Given the description of an element on the screen output the (x, y) to click on. 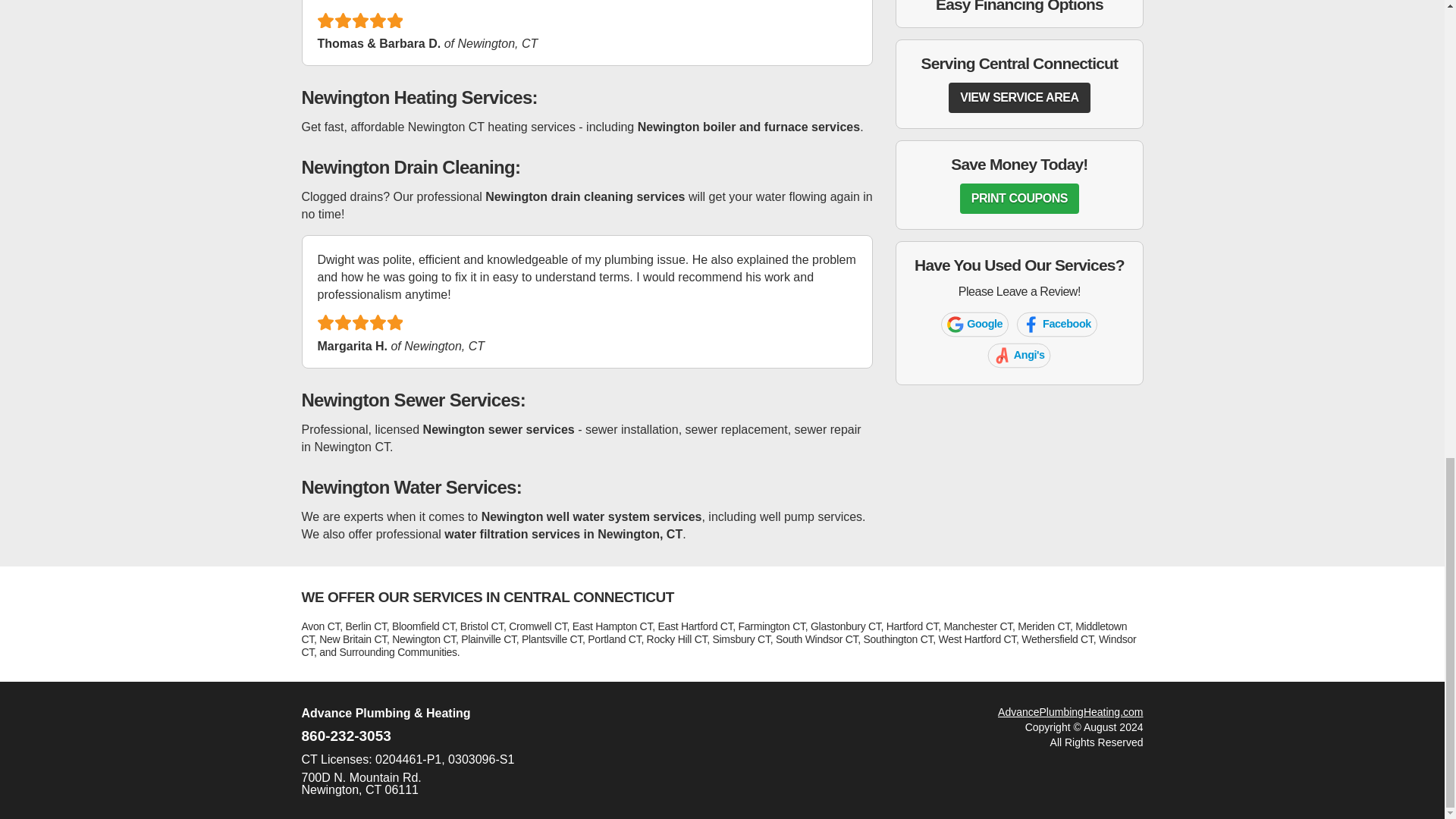
AdvancePlumbingHeating.com (1069, 711)
PRINT COUPONS (1061, 325)
860-232-3053 (978, 325)
VIEW SERVICE AREA (1018, 198)
